Given the description of an element on the screen output the (x, y) to click on. 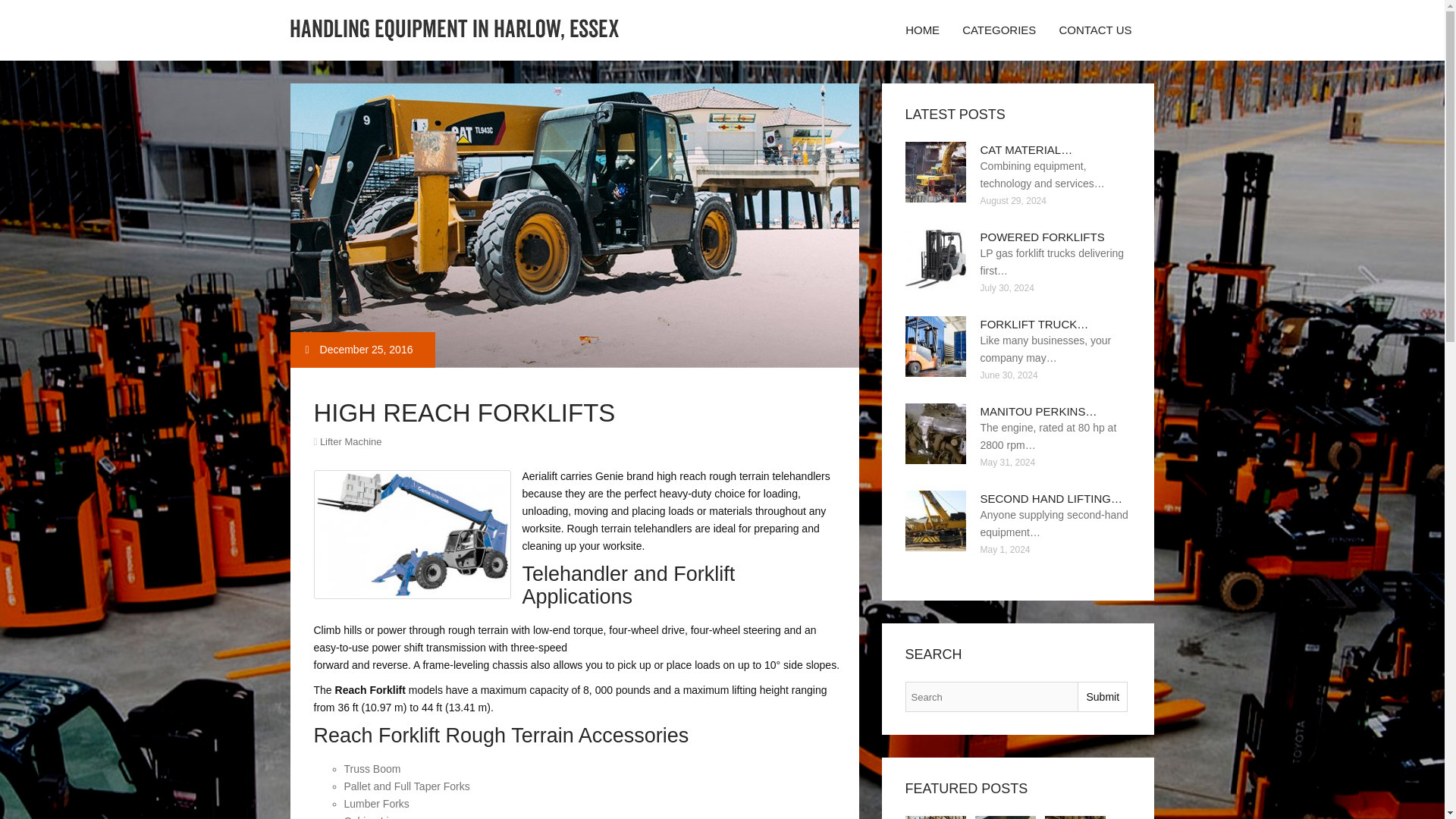
HOME (921, 30)
CONTACT US (1094, 30)
Submit (1101, 696)
Material Handling Equipment Tips (935, 817)
Lifter Machine (350, 441)
Aisle Forklifts (1075, 817)
Submit (1101, 696)
High Reach Trucks (1005, 817)
POWERED FORKLIFTS (1041, 236)
CATEGORIES (998, 30)
